Given the description of an element on the screen output the (x, y) to click on. 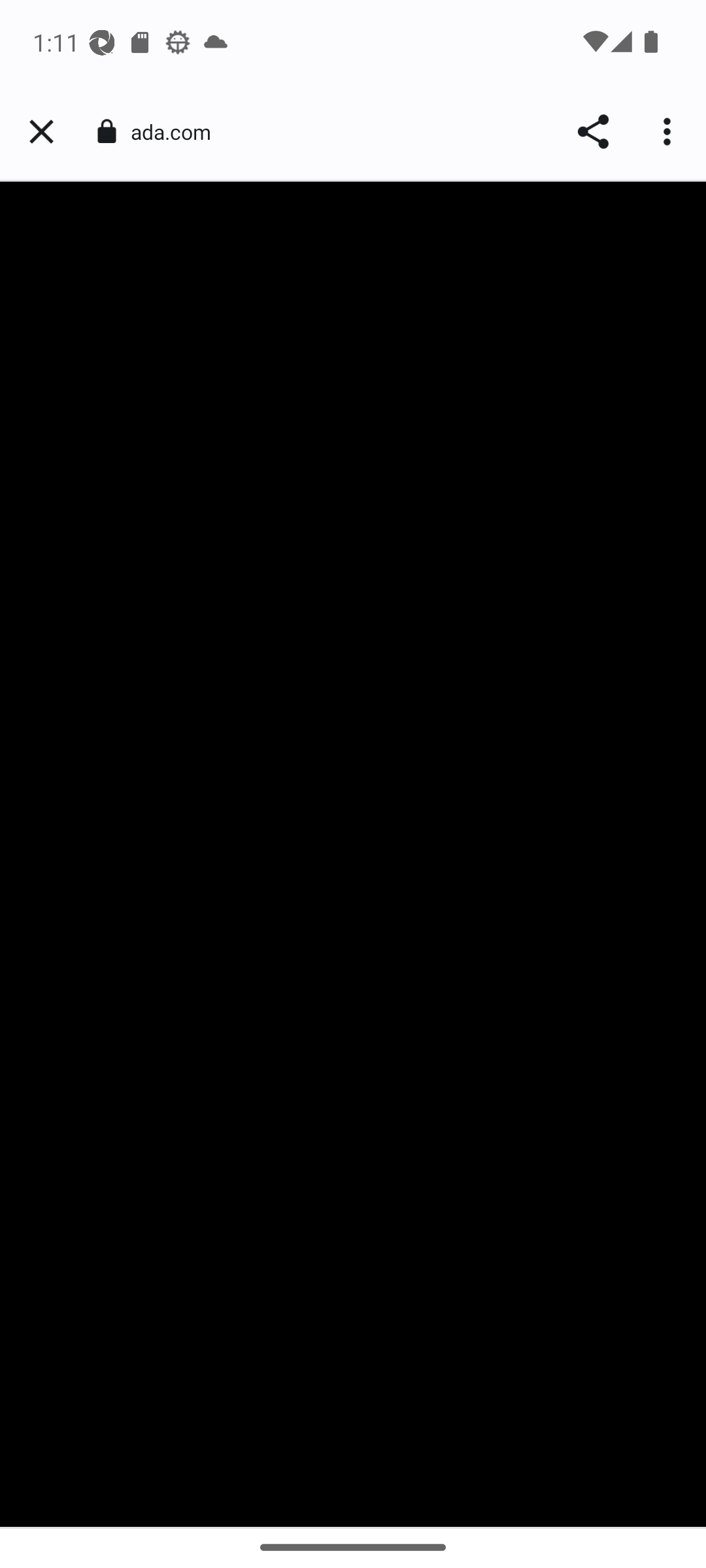
Close tab (41, 131)
Share (592, 131)
More options (669, 131)
Connection is secure (106, 131)
ada.com (177, 131)
